Given the description of an element on the screen output the (x, y) to click on. 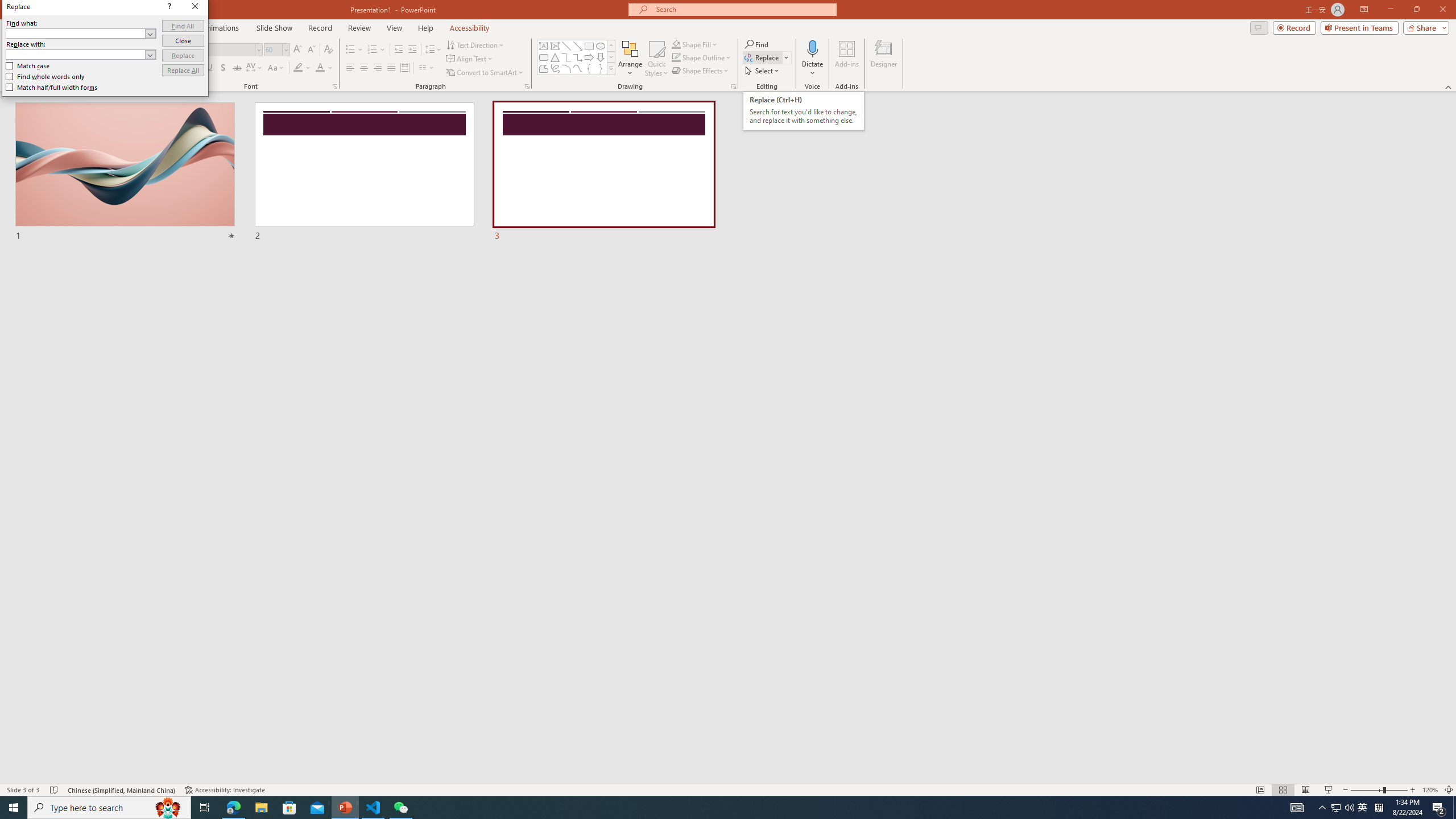
Replace (183, 55)
Match case (27, 65)
